Given the description of an element on the screen output the (x, y) to click on. 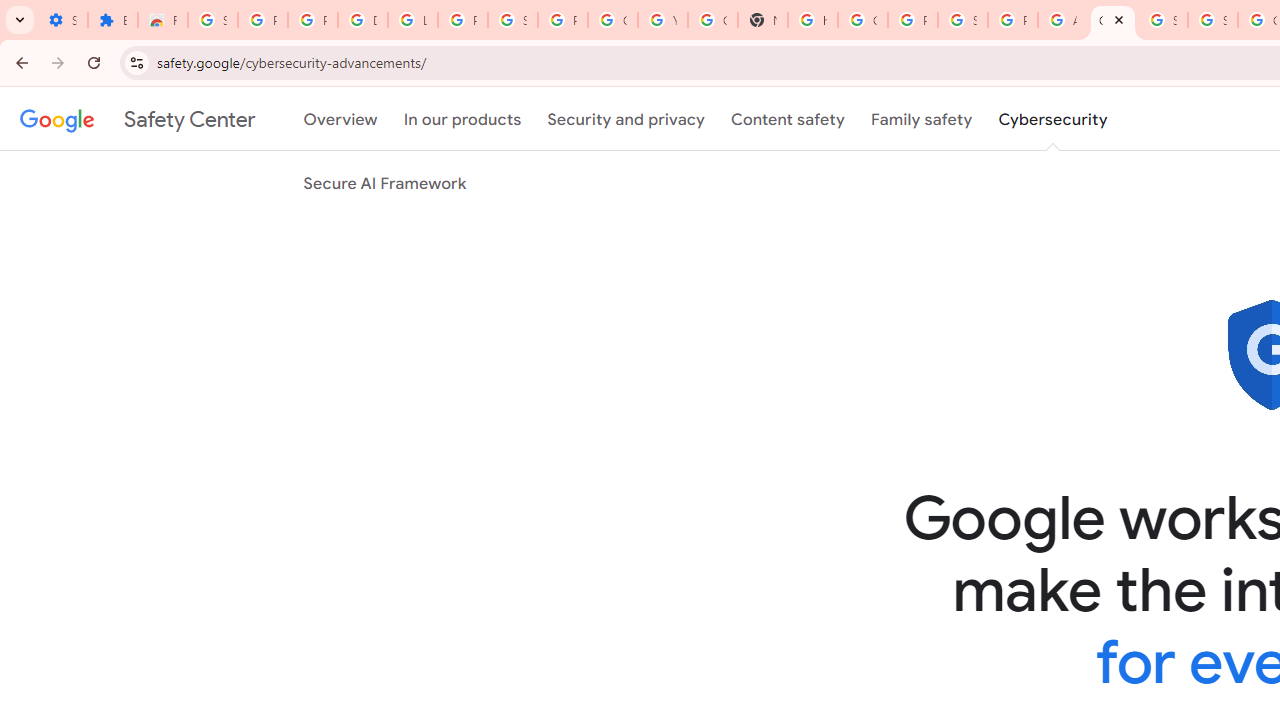
Secure AI Framework (385, 183)
Sign in - Google Accounts (1212, 20)
https://scholar.google.com/ (813, 20)
Delete photos & videos - Computer - Google Photos Help (362, 20)
